Given the description of an element on the screen output the (x, y) to click on. 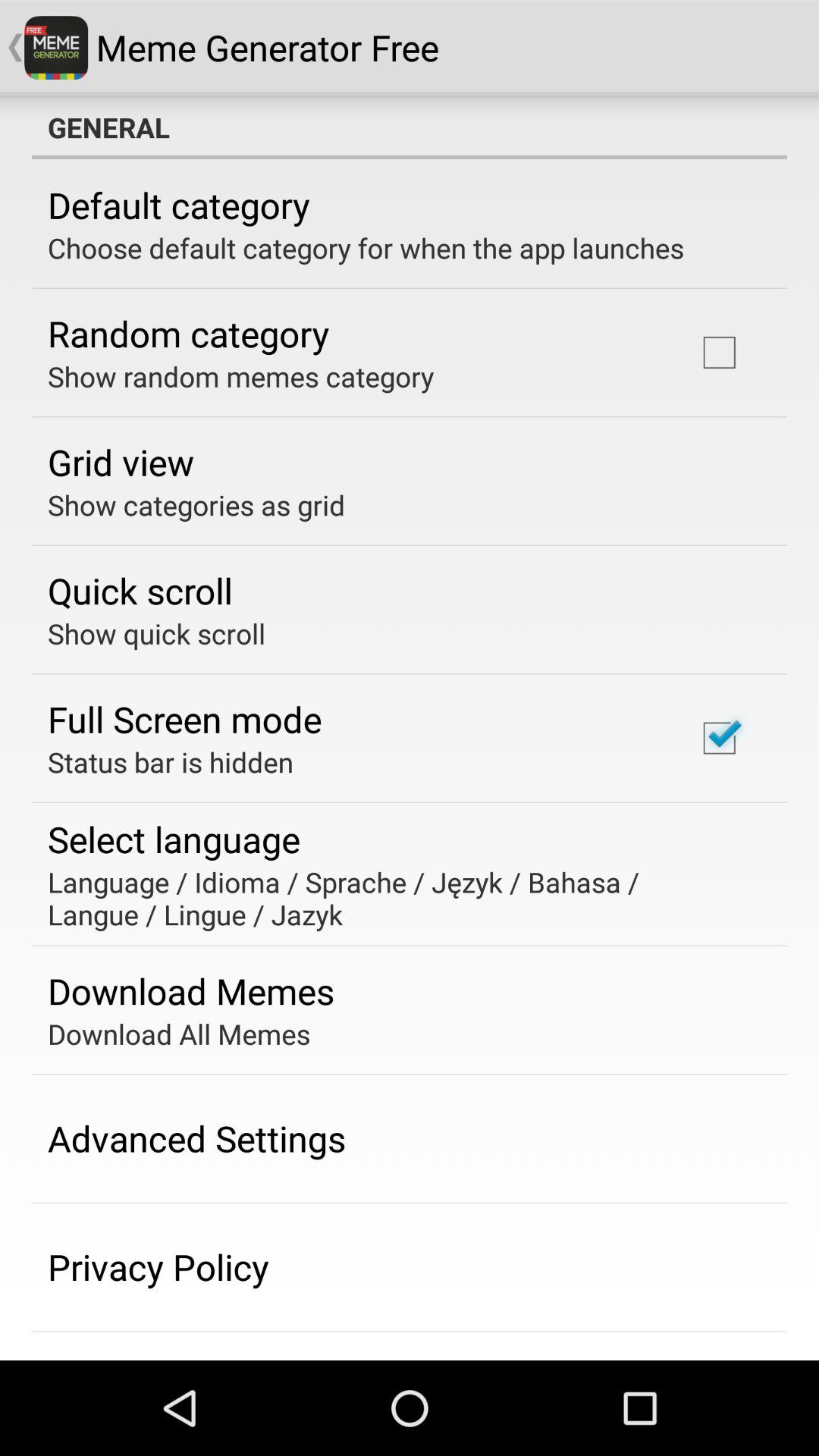
tap advanced settings icon (196, 1138)
